Given the description of an element on the screen output the (x, y) to click on. 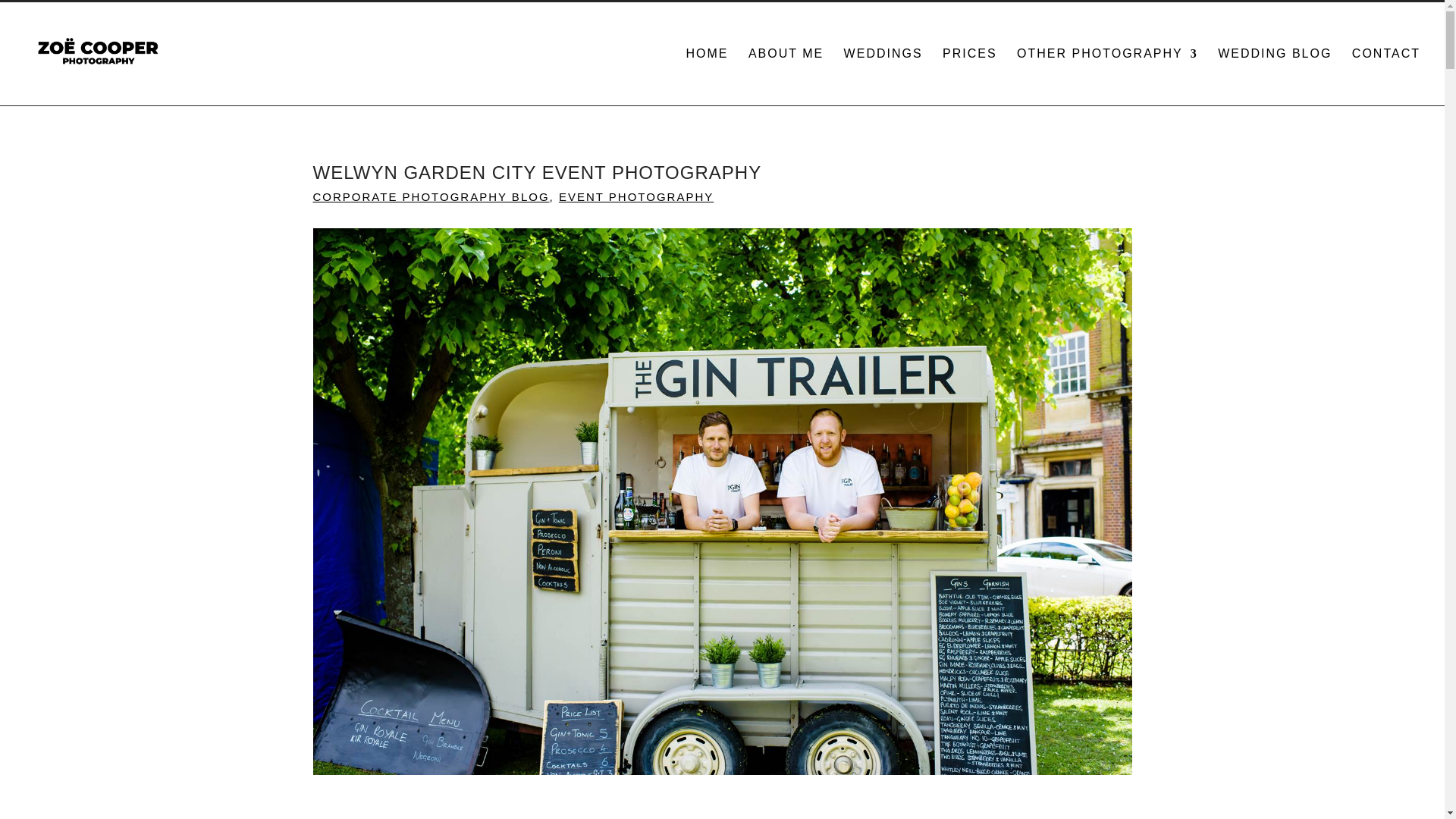
WEDDINGS (883, 76)
EVENT PHOTOGRAPHY (636, 196)
OTHER PHOTOGRAPHY (1107, 76)
CONTACT (1386, 76)
ABOUT ME (786, 76)
WEDDING BLOG (1274, 76)
PRICES (969, 76)
CORPORATE PHOTOGRAPHY BLOG (430, 196)
